Given the description of an element on the screen output the (x, y) to click on. 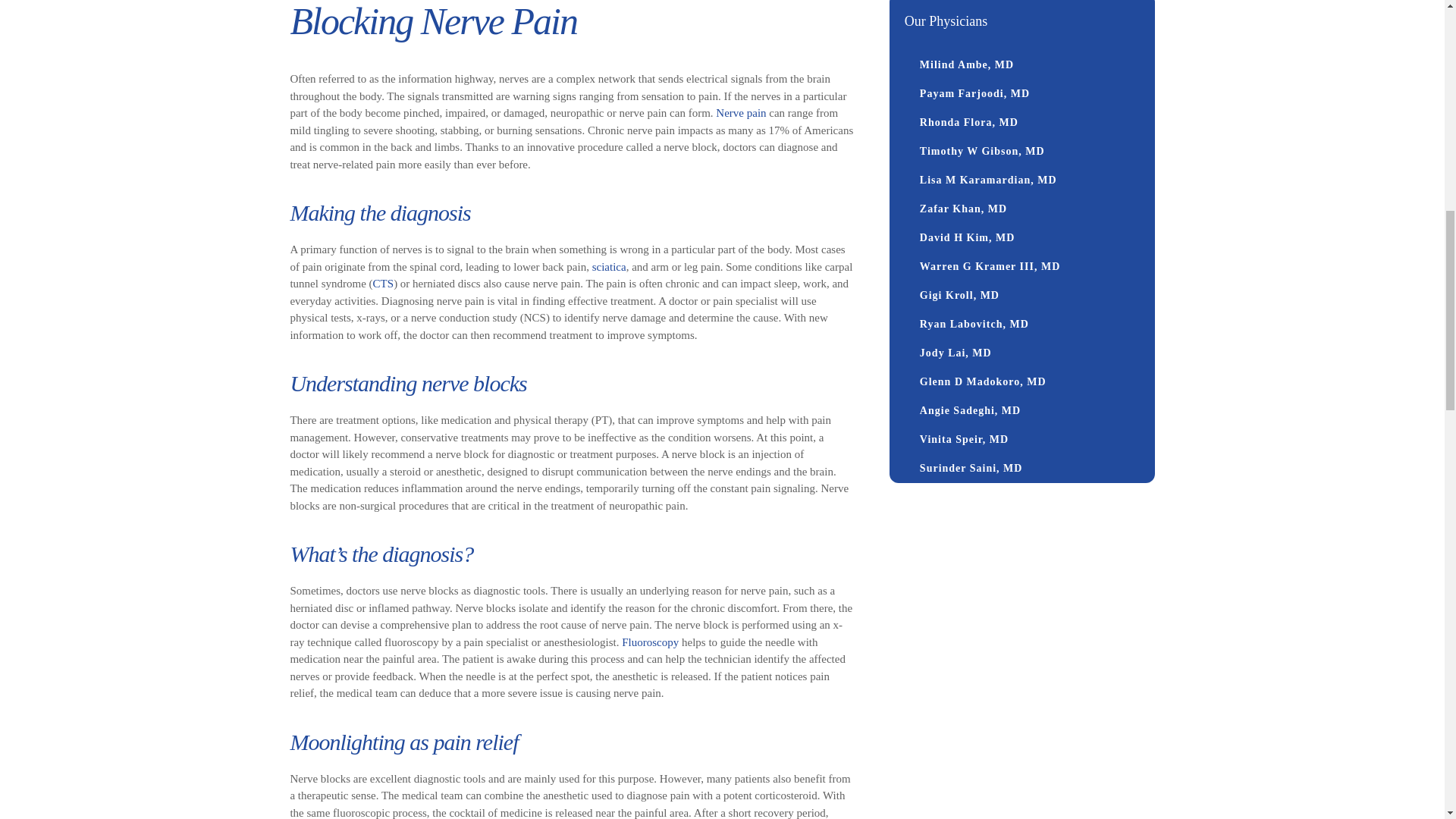
Rhonda Flora, MD (1021, 122)
David H Kim, MD (1021, 237)
Vinita Speir, MD (1021, 439)
sciatica (609, 266)
CTS (383, 283)
Gigi Kroll, MD (1021, 295)
Warren G Kramer III, MD (1021, 266)
Surinder Saini, MD (1021, 468)
Nerve pain (740, 112)
Ryan Labovitch, MD (1021, 324)
Milind Ambe, MD (1021, 64)
Zafar Khan, MD (1021, 208)
Payam Farjoodi, MD (1021, 93)
Timothy W Gibson, MD (1021, 151)
Jody Lai, MD (1021, 353)
